Given the description of an element on the screen output the (x, y) to click on. 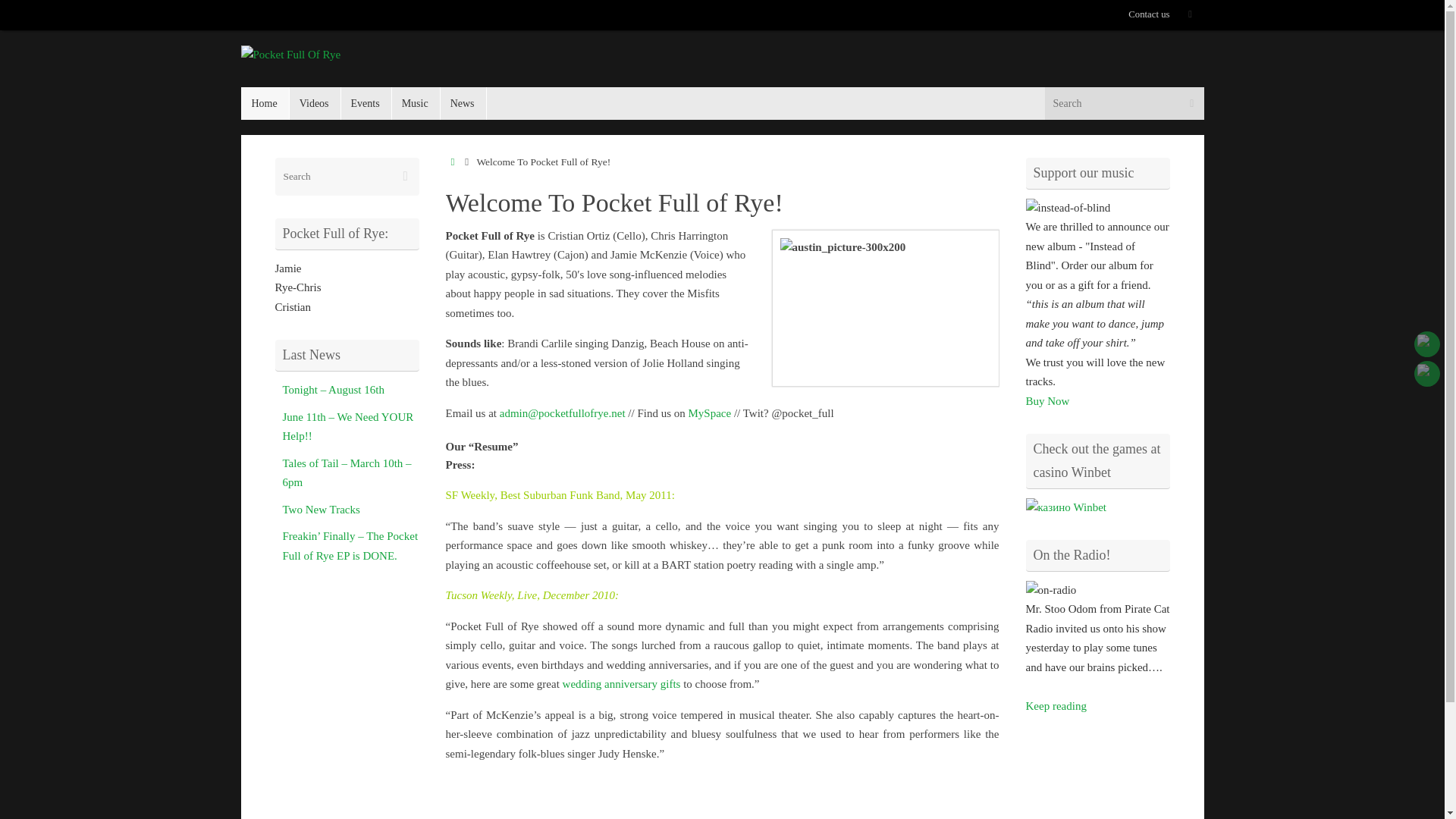
Pocket Full Of Rye (290, 55)
MySpace (710, 412)
Keep reading (1055, 705)
Two New Tracks (320, 509)
Buy Now (1046, 400)
Home (264, 102)
wedding anniversary gifts (621, 684)
Videos (314, 102)
Music (415, 102)
YouTube (1426, 344)
